Given the description of an element on the screen output the (x, y) to click on. 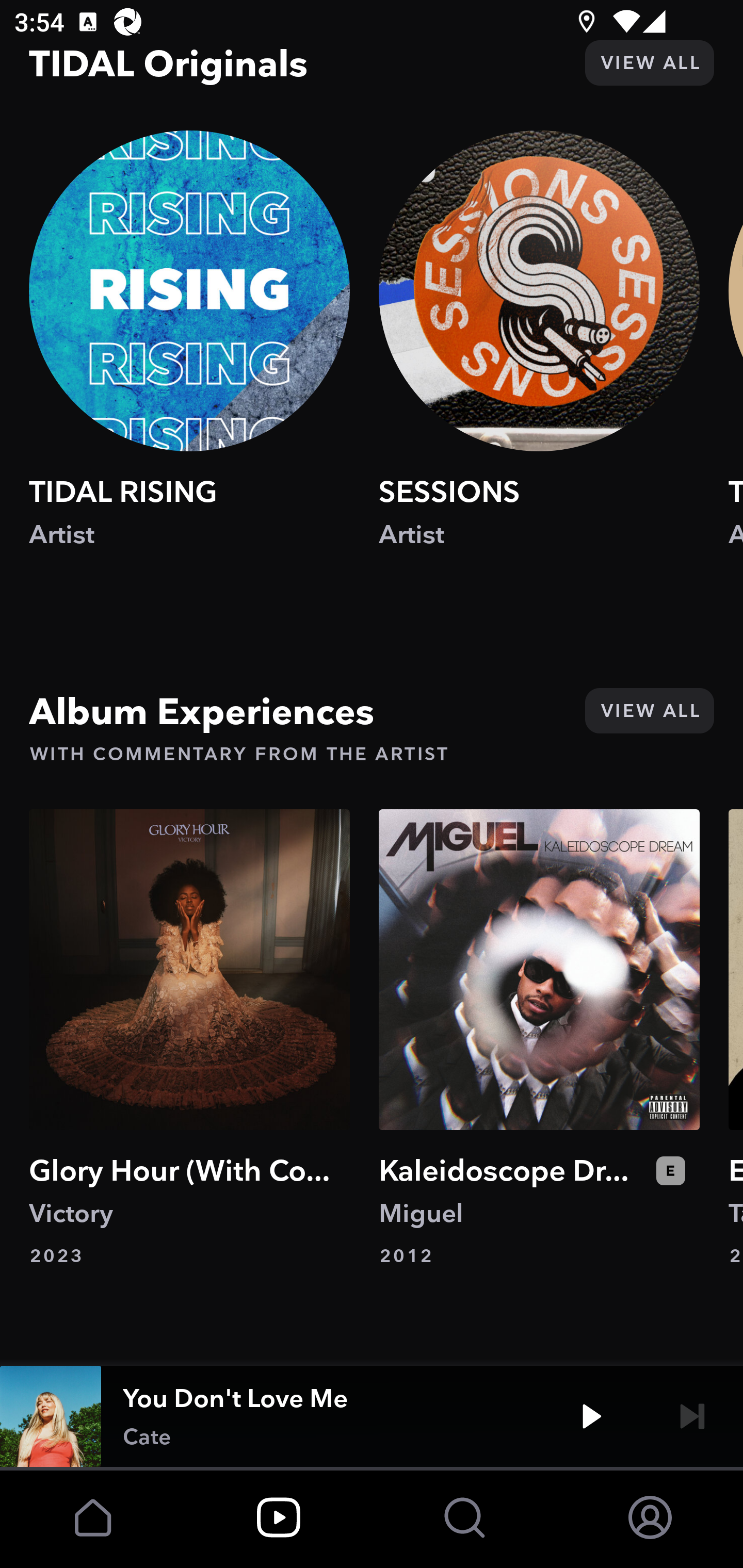
VIEW ALL (649, 63)
TIDAL RISING Artist (188, 358)
SESSIONS Artist (538, 358)
VIEW ALL (649, 710)
Glory Hour (With Commentary) Victory 2023 (188, 1038)
Kaleidoscope Dream (With Commentary) Miguel 2012 (538, 1038)
You Don't Love Me Cate Play (371, 1416)
Play (590, 1416)
